Given the description of an element on the screen output the (x, y) to click on. 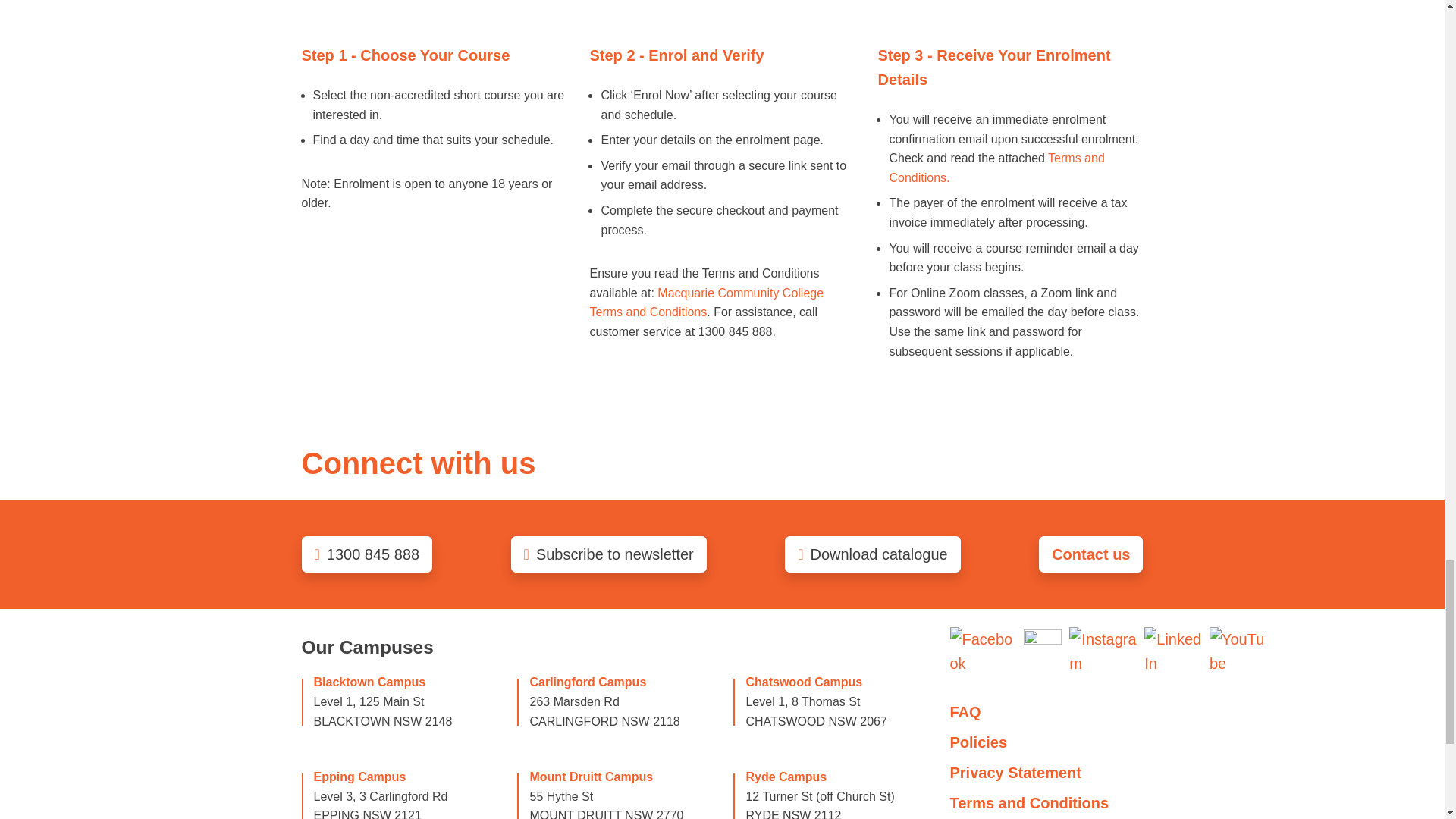
Download catalogue (872, 554)
Subscribe to newsletter (608, 554)
Contact us (1090, 554)
Call us on 1300 845 888 (366, 554)
Blacktown Campus (370, 681)
